Given the description of an element on the screen output the (x, y) to click on. 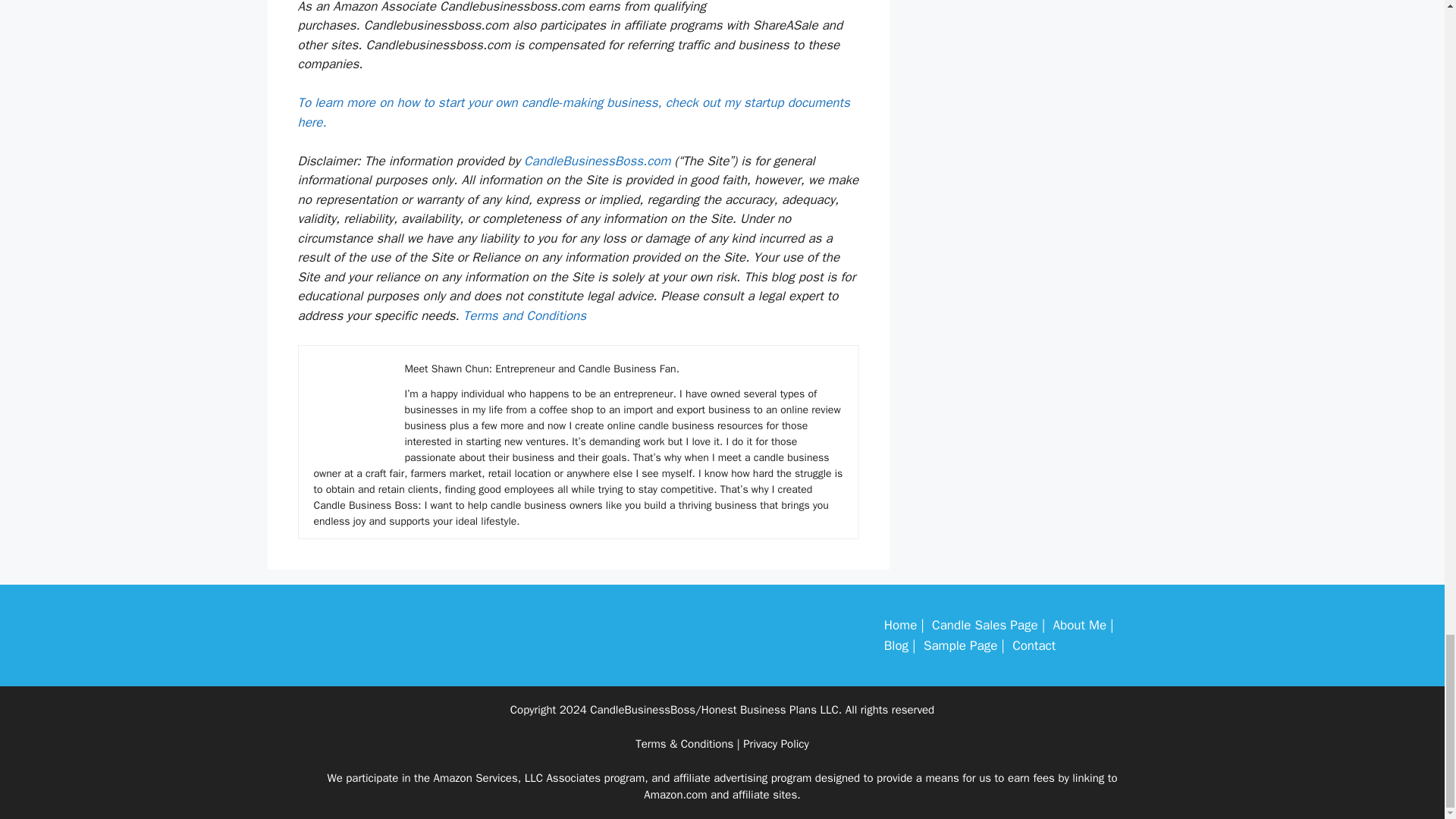
Terms and Conditions (524, 315)
CandleBusinessBoss.com (597, 160)
